Given the description of an element on the screen output the (x, y) to click on. 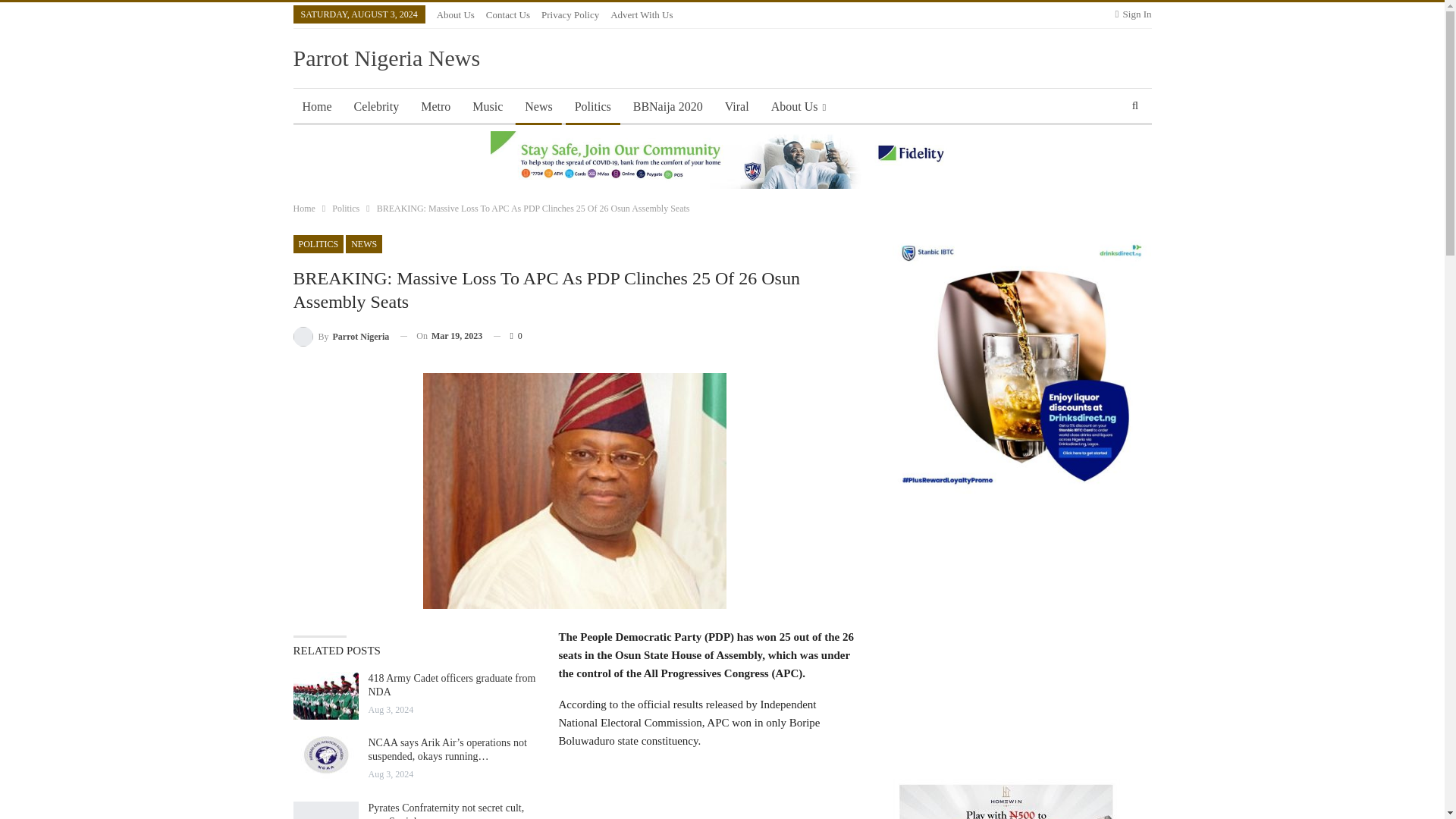
Viral (737, 106)
By Parrot Nigeria (340, 335)
Music (487, 106)
Sign In (1133, 13)
Home (303, 208)
Parrot Nigeria News (386, 57)
0 (507, 335)
Advert With Us (641, 14)
Pyrates Confraternity not secret cult, says Soyinka (446, 810)
News (537, 106)
BBNaija 2020 (667, 106)
NEWS (363, 244)
Contact Us (507, 14)
POLITICS (317, 244)
Home (316, 106)
